Given the description of an element on the screen output the (x, y) to click on. 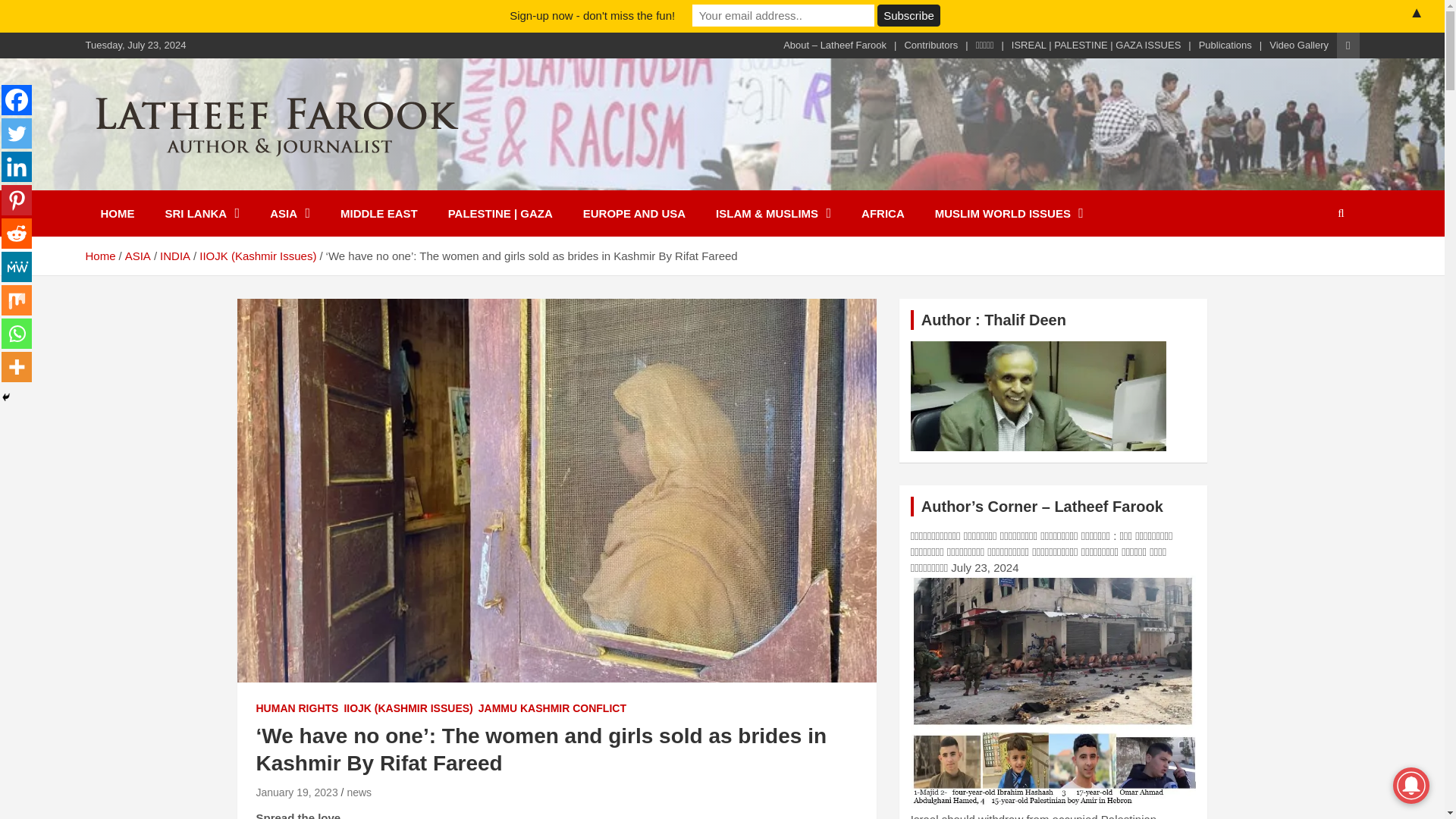
Subscribe (908, 15)
HOME (116, 213)
MIDDLE EAST (378, 213)
Twitter (16, 132)
ASIA (289, 213)
SRI LANKA (202, 213)
EUROPE AND USA (633, 213)
Contributors (931, 45)
Publications (1225, 45)
Video Gallery (1298, 45)
Facebook (16, 100)
Latheef Farook (193, 179)
